Given the description of an element on the screen output the (x, y) to click on. 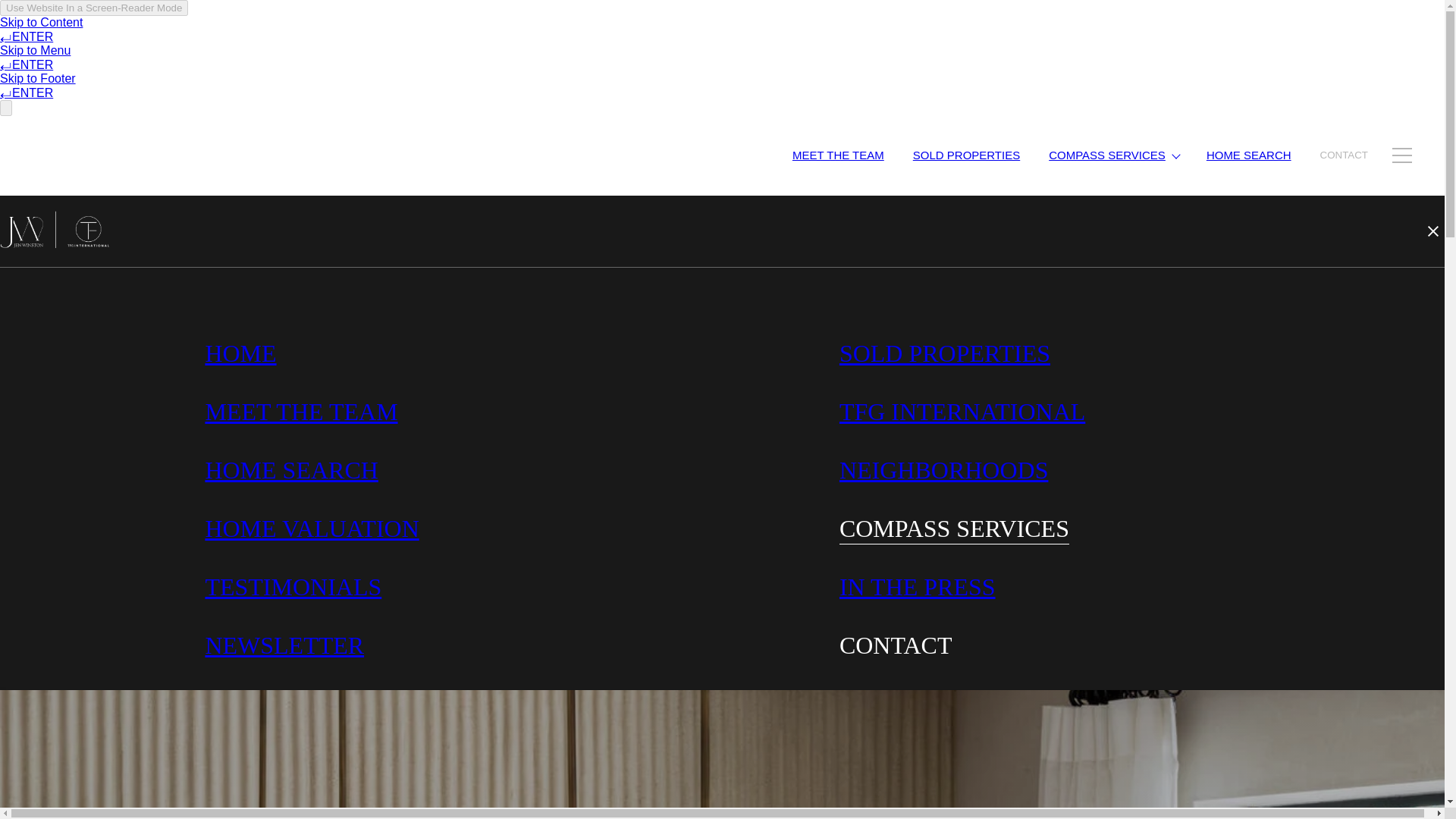
HOME (240, 352)
MEET THE TEAM (301, 411)
TESTIMONIALS (293, 586)
SOLD PROPERTIES (944, 352)
MEET THE TEAM (837, 154)
SOLD PROPERTIES (965, 154)
HOME SEARCH (1249, 154)
CONTACT (896, 645)
HOME SEARCH (291, 470)
CONTACT (1343, 154)
NEWSLETTER (284, 645)
HOME VALUATION (312, 528)
COMPASS SERVICES (1112, 154)
COMPASS SERVICES (954, 528)
TFG INTERNATIONAL (962, 411)
